Given the description of an element on the screen output the (x, y) to click on. 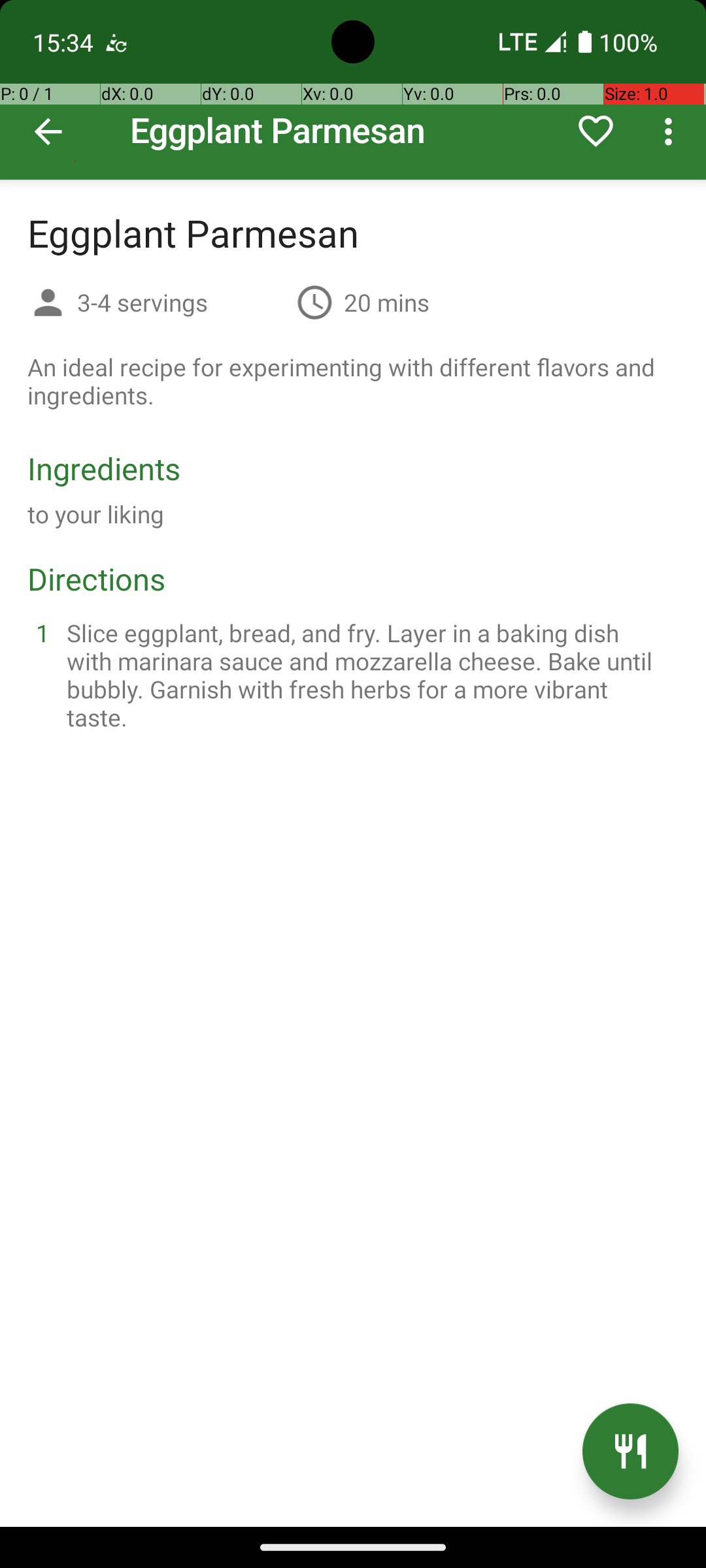
to your liking Element type: android.widget.TextView (95, 513)
Slice eggplant, bread, and fry. Layer in a baking dish with marinara sauce and mozzarella cheese. Bake until bubbly. Garnish with fresh herbs for a more vibrant taste. Element type: android.widget.TextView (368, 674)
